Given the description of an element on the screen output the (x, y) to click on. 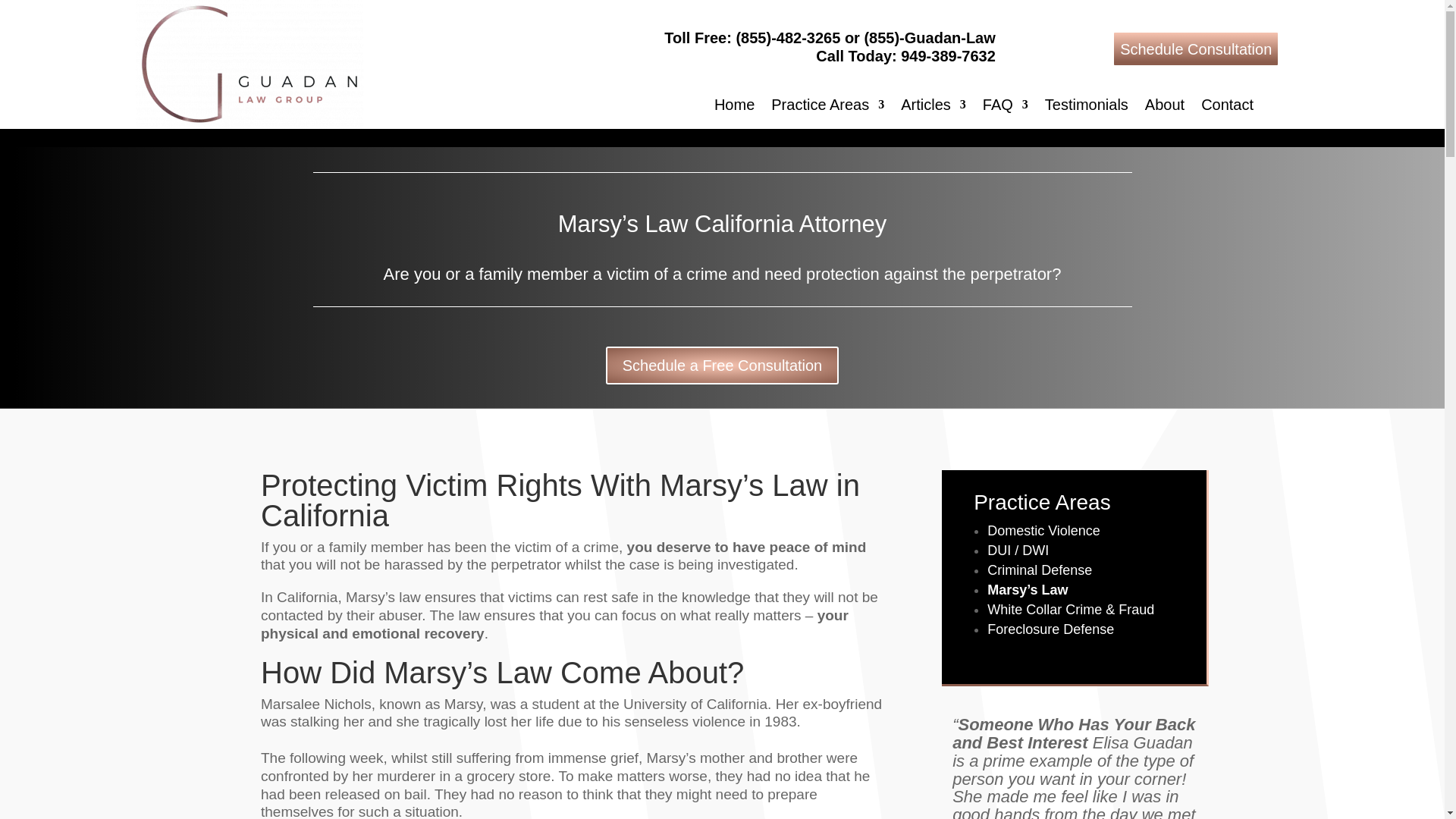
Schedule a Free Consultation (722, 365)
FAQ (1004, 107)
Home (734, 107)
Testimonials (1086, 107)
Contact (1227, 107)
Articles (933, 107)
Guadan logo-LRG (248, 64)
Foreclosure Defense (1050, 629)
About (1164, 107)
949-389-7632 (948, 55)
